Given the description of an element on the screen output the (x, y) to click on. 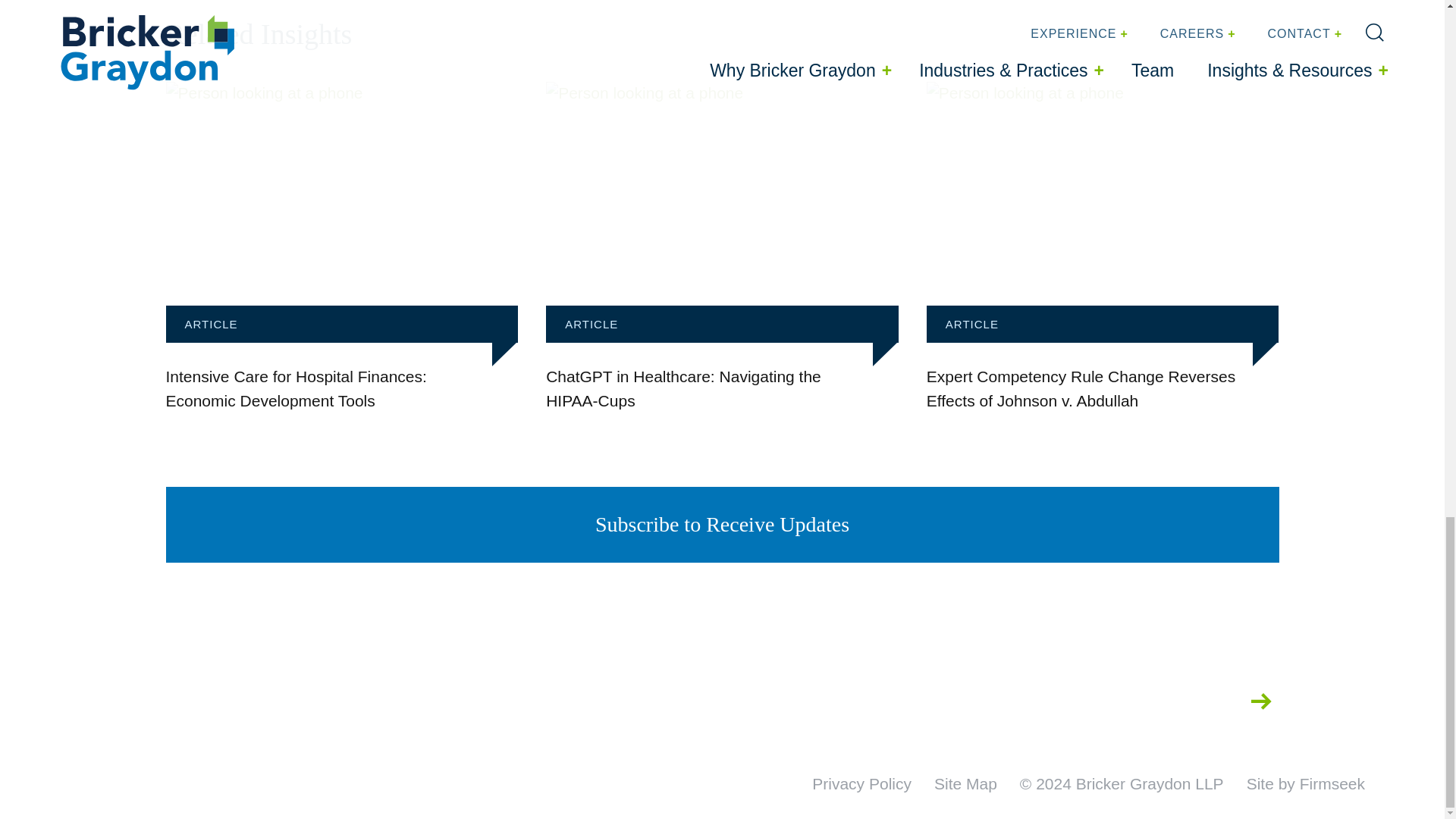
Instagram (1075, 700)
Twitter (1026, 700)
Youtube (1213, 700)
Linkedin (1164, 700)
